Given the description of an element on the screen output the (x, y) to click on. 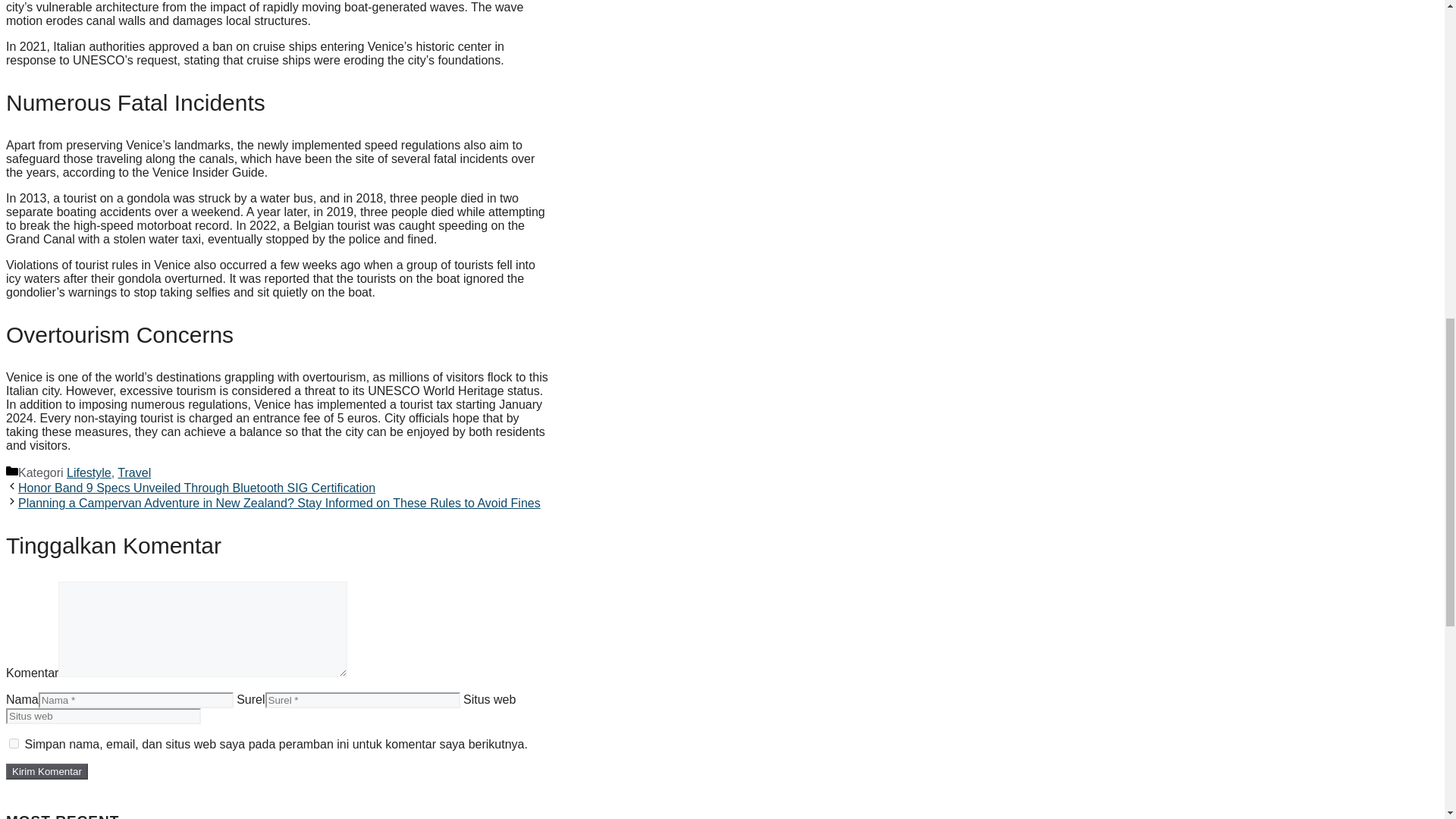
Lifestyle (89, 472)
yes (13, 743)
Kirim Komentar (46, 771)
Travel (134, 472)
Kirim Komentar (46, 771)
